Given the description of an element on the screen output the (x, y) to click on. 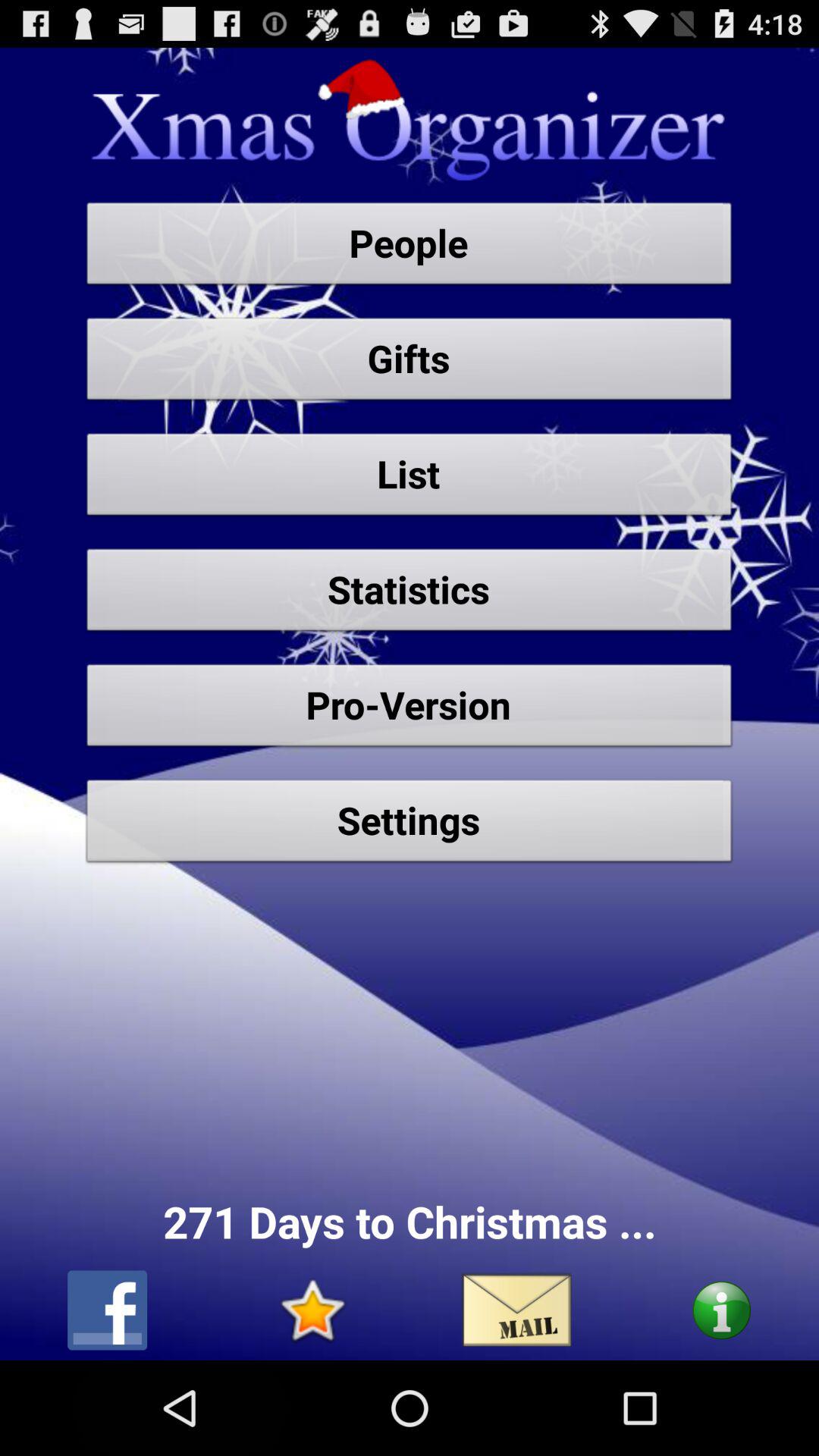
go to information (721, 1310)
